Given the description of an element on the screen output the (x, y) to click on. 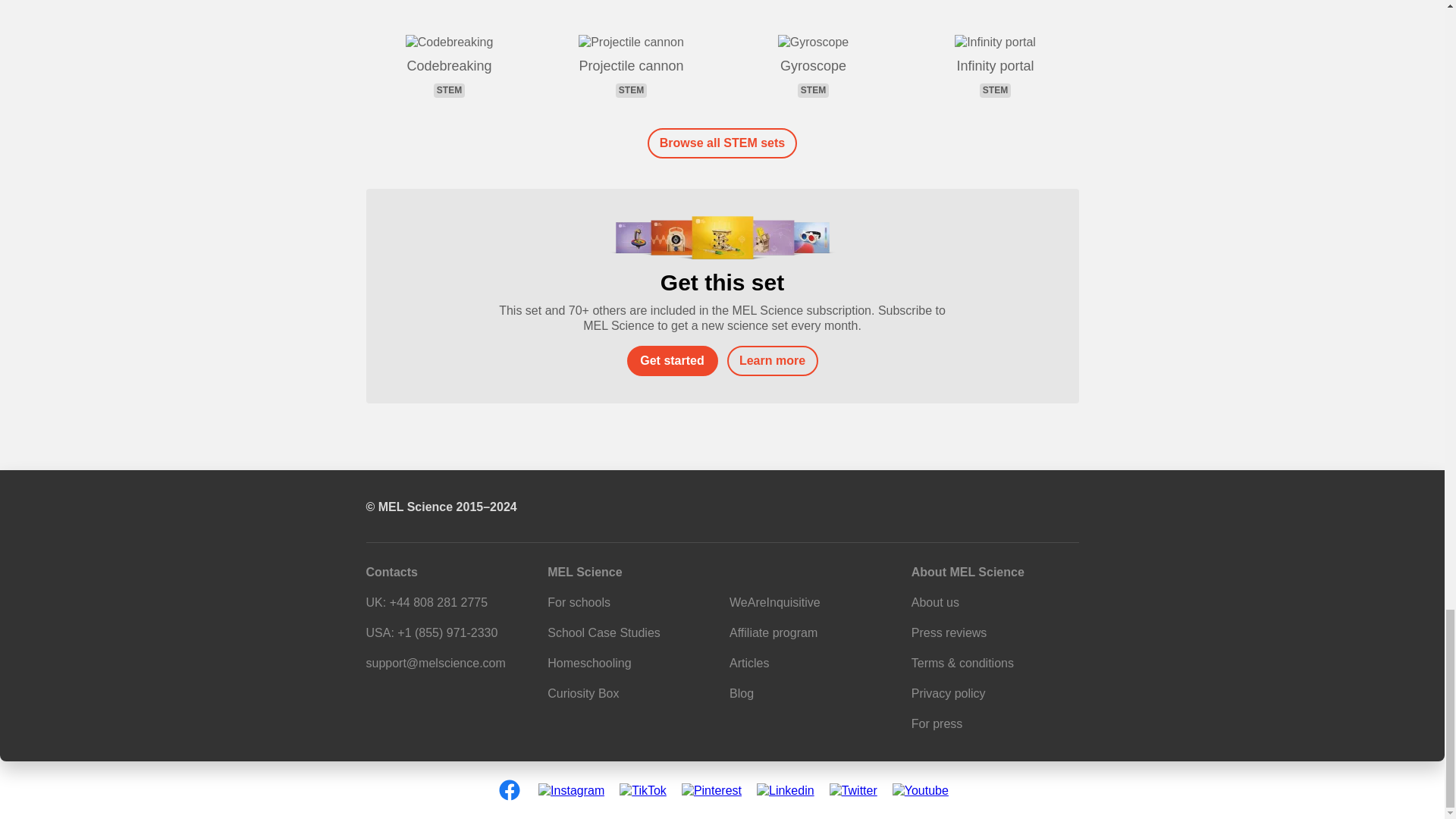
Blog (741, 693)
Browse all STEM sets (721, 142)
Affiliate program (772, 632)
Curiosity Box (582, 693)
About us (935, 602)
Homeschooling (448, 66)
Press reviews (588, 662)
Articles (994, 66)
